Given the description of an element on the screen output the (x, y) to click on. 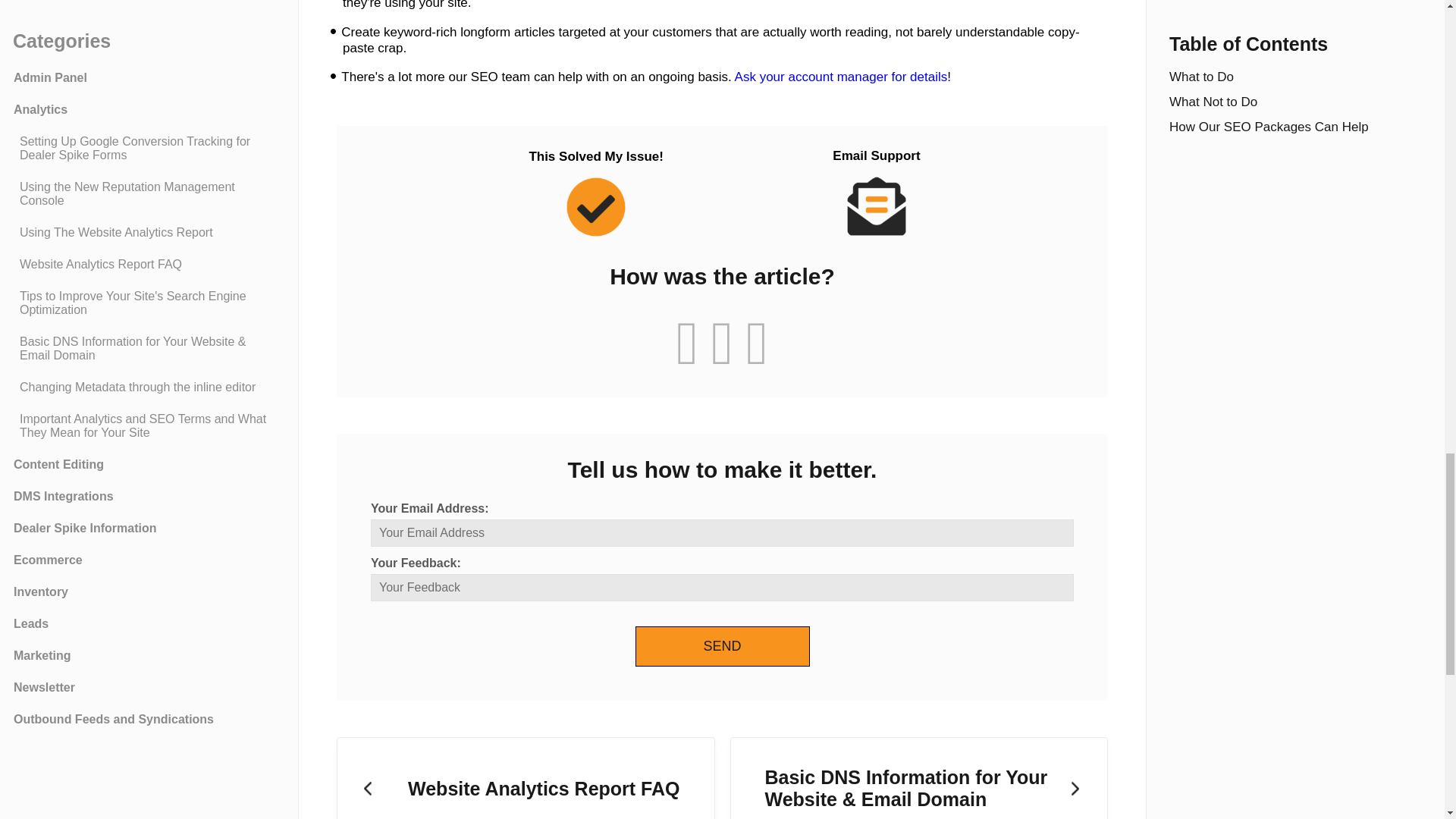
email (722, 533)
name (722, 587)
